Given the description of an element on the screen output the (x, y) to click on. 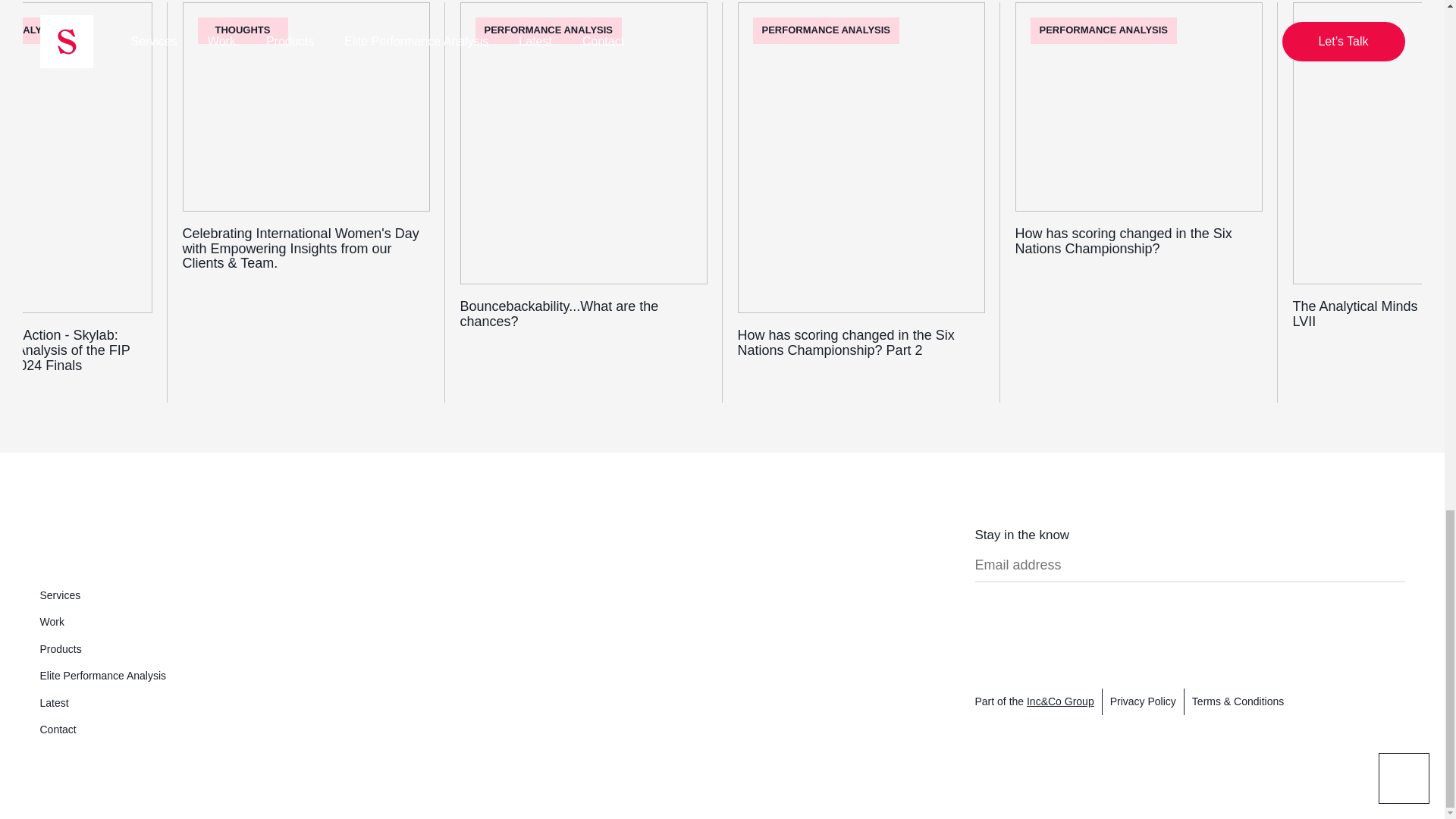
linked-in (1008, 621)
Privacy Policy (1142, 701)
Work (51, 622)
s (52, 541)
chevron-right (1395, 561)
Services (59, 595)
Submit (1395, 562)
twitter (1034, 621)
Products (60, 649)
Elite Performance Analysis (102, 675)
